Given the description of an element on the screen output the (x, y) to click on. 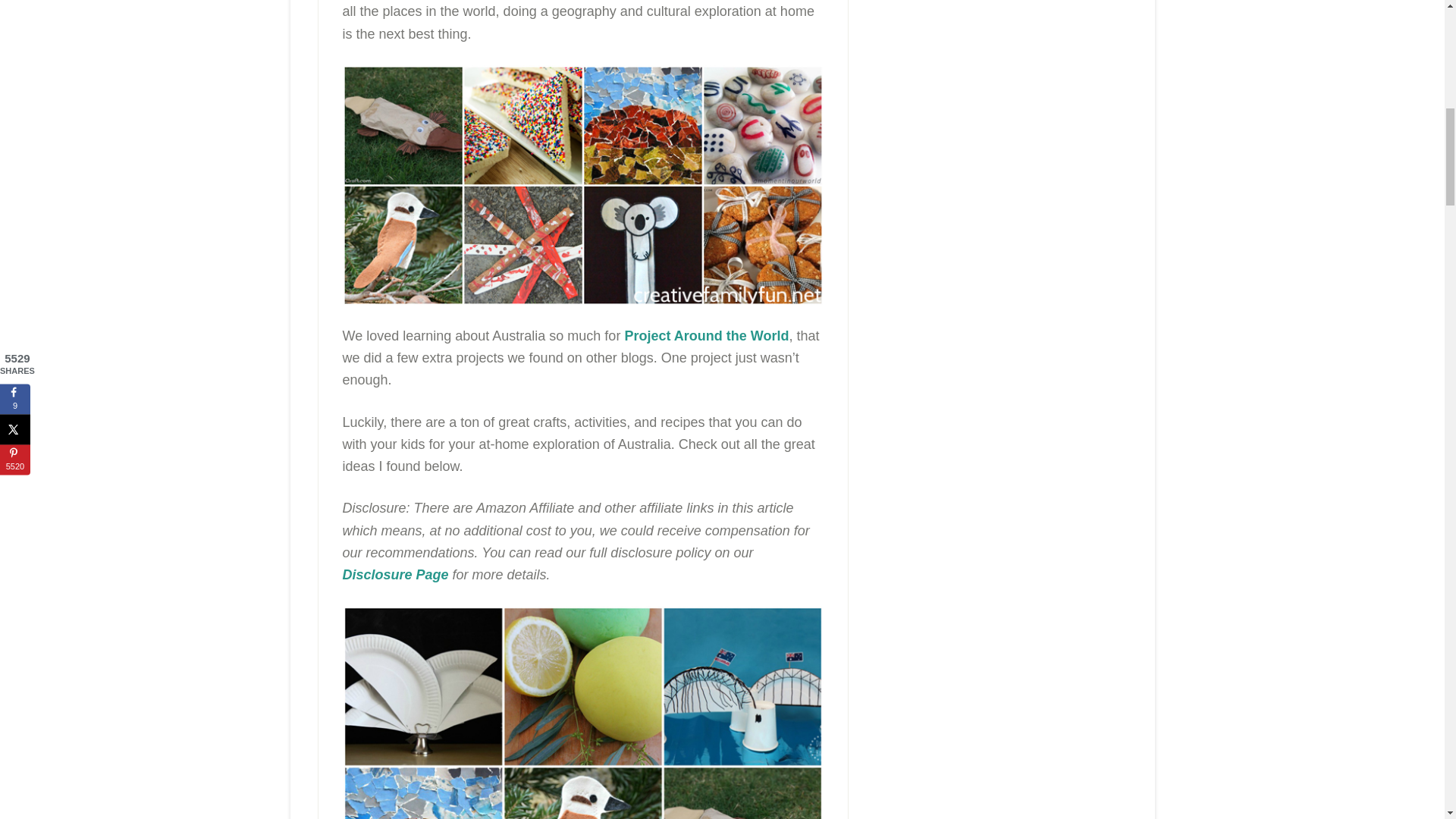
Project Around the World (706, 335)
Disclosure Page (395, 574)
